Given the description of an element on the screen output the (x, y) to click on. 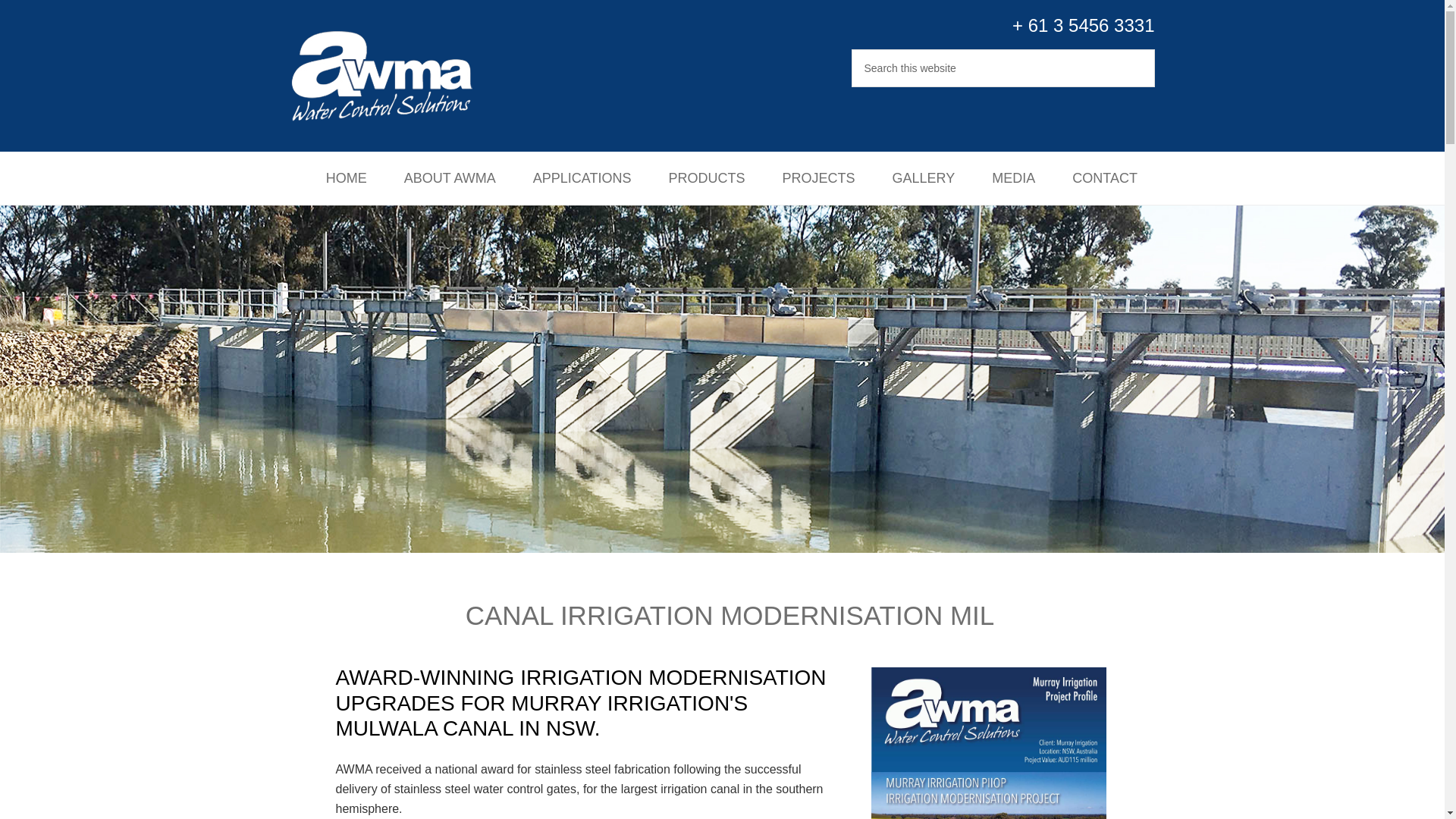
PRODUCTS (706, 177)
HOME (346, 177)
AWMA (395, 75)
61 3 5456 3331 (1090, 25)
APPLICATIONS (582, 177)
ABOUT AWMA (449, 177)
